Given the description of an element on the screen output the (x, y) to click on. 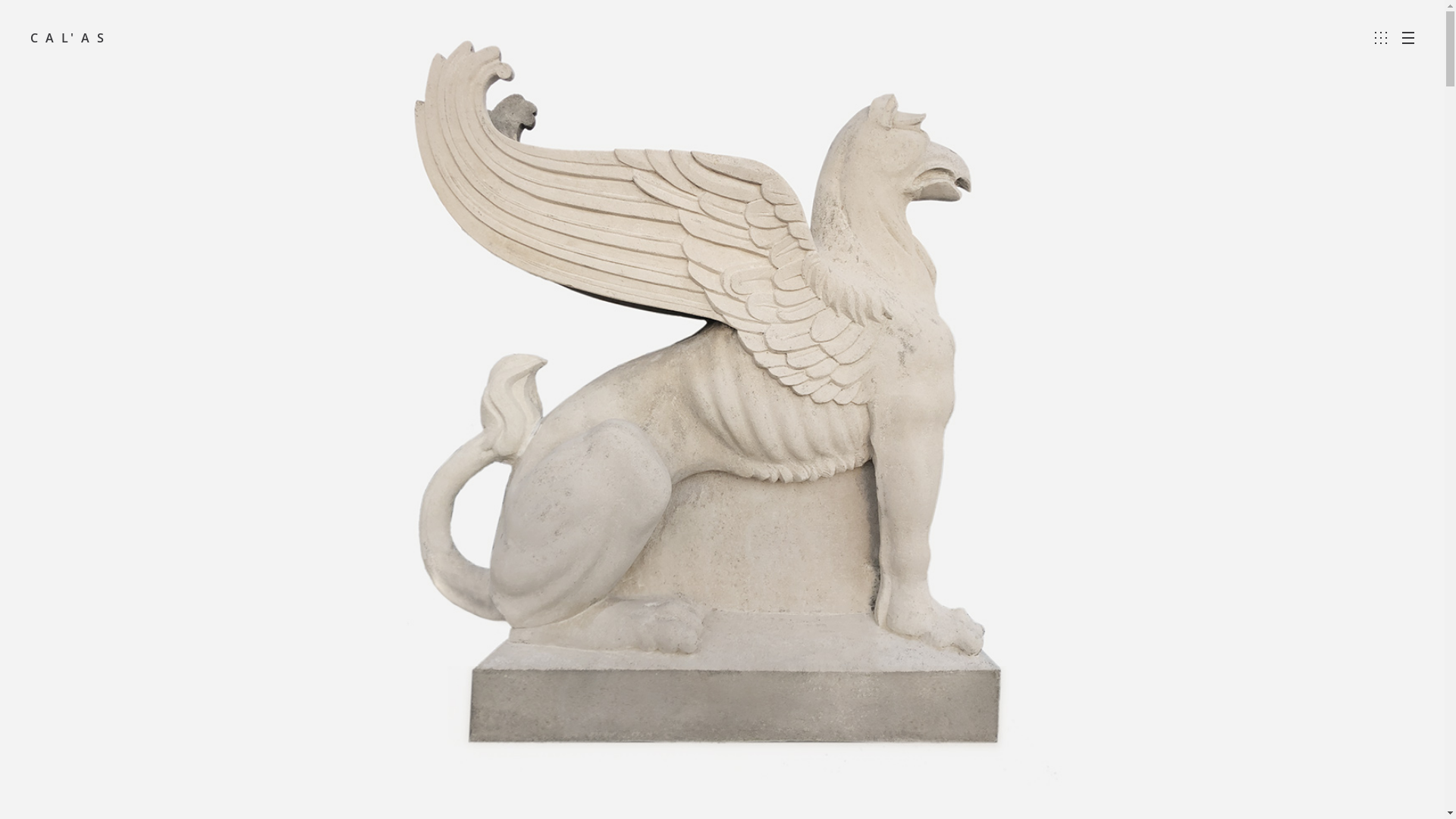
C A L' A S Element type: text (68, 37)
